Given the description of an element on the screen output the (x, y) to click on. 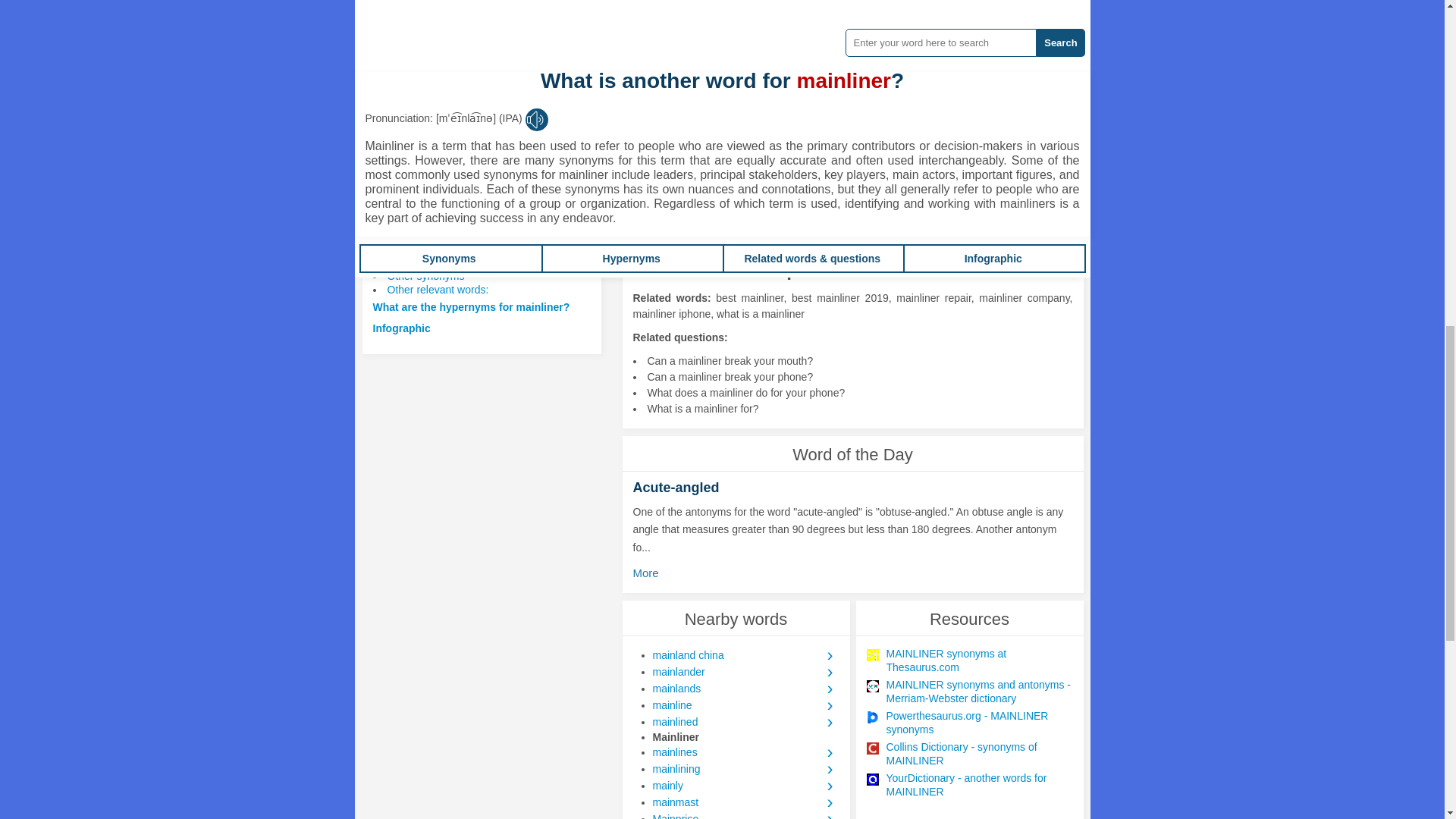
Synonyms for Mainliner (778, 50)
bigger (713, 50)
Synonyms for Mainliner (677, 50)
corer (746, 50)
wide-body aircraft (816, 199)
What are the hypernyms for mainliner? (471, 306)
aircraft (678, 199)
What is another word for mainliner? (463, 233)
mainland china (745, 655)
More (648, 572)
